Given the description of an element on the screen output the (x, y) to click on. 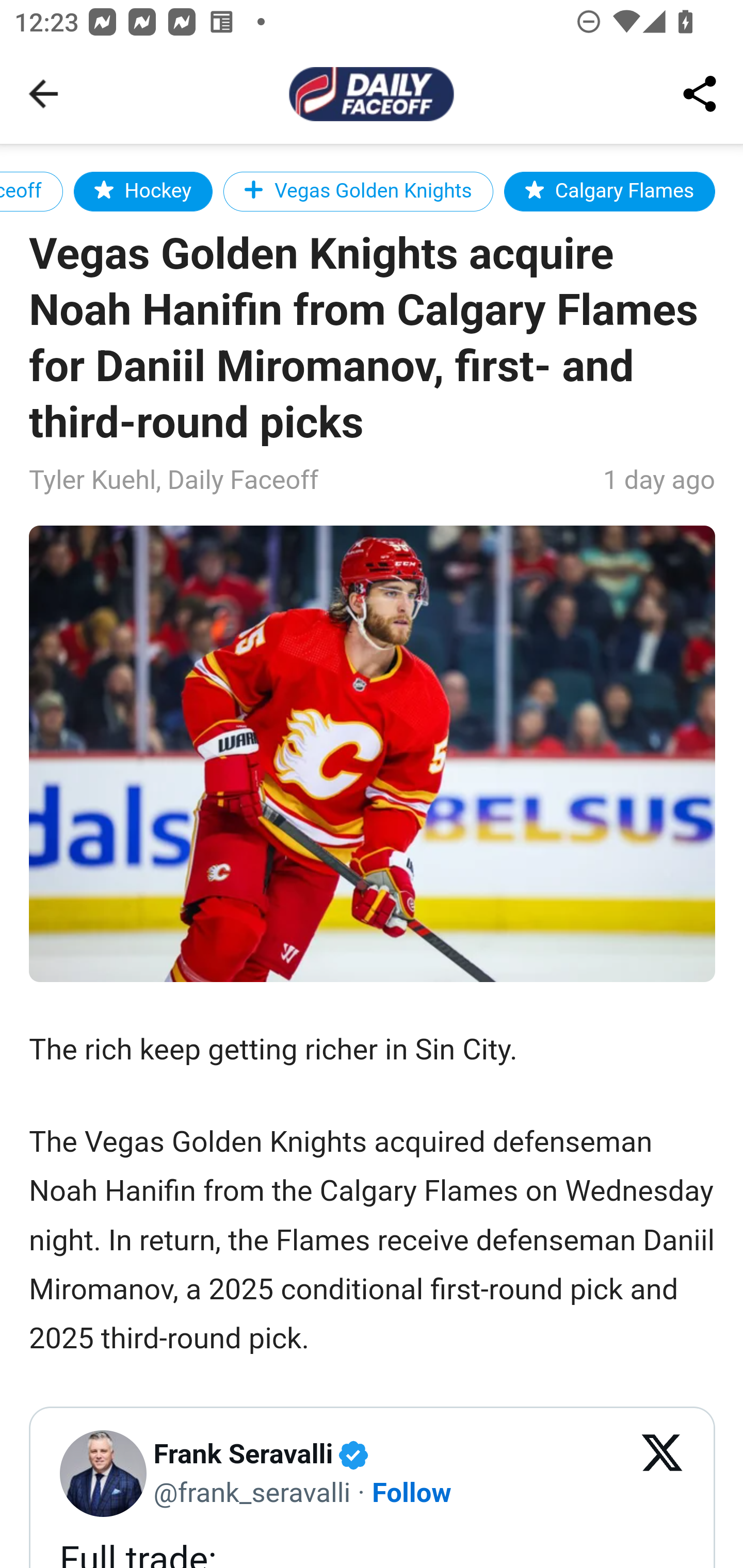
Hockey (142, 191)
Vegas Golden Knights (358, 191)
Calgary Flames (609, 191)
View on X (662, 1473)
@frank_seravalli (251, 1490)
Follow (412, 1490)
